Given the description of an element on the screen output the (x, y) to click on. 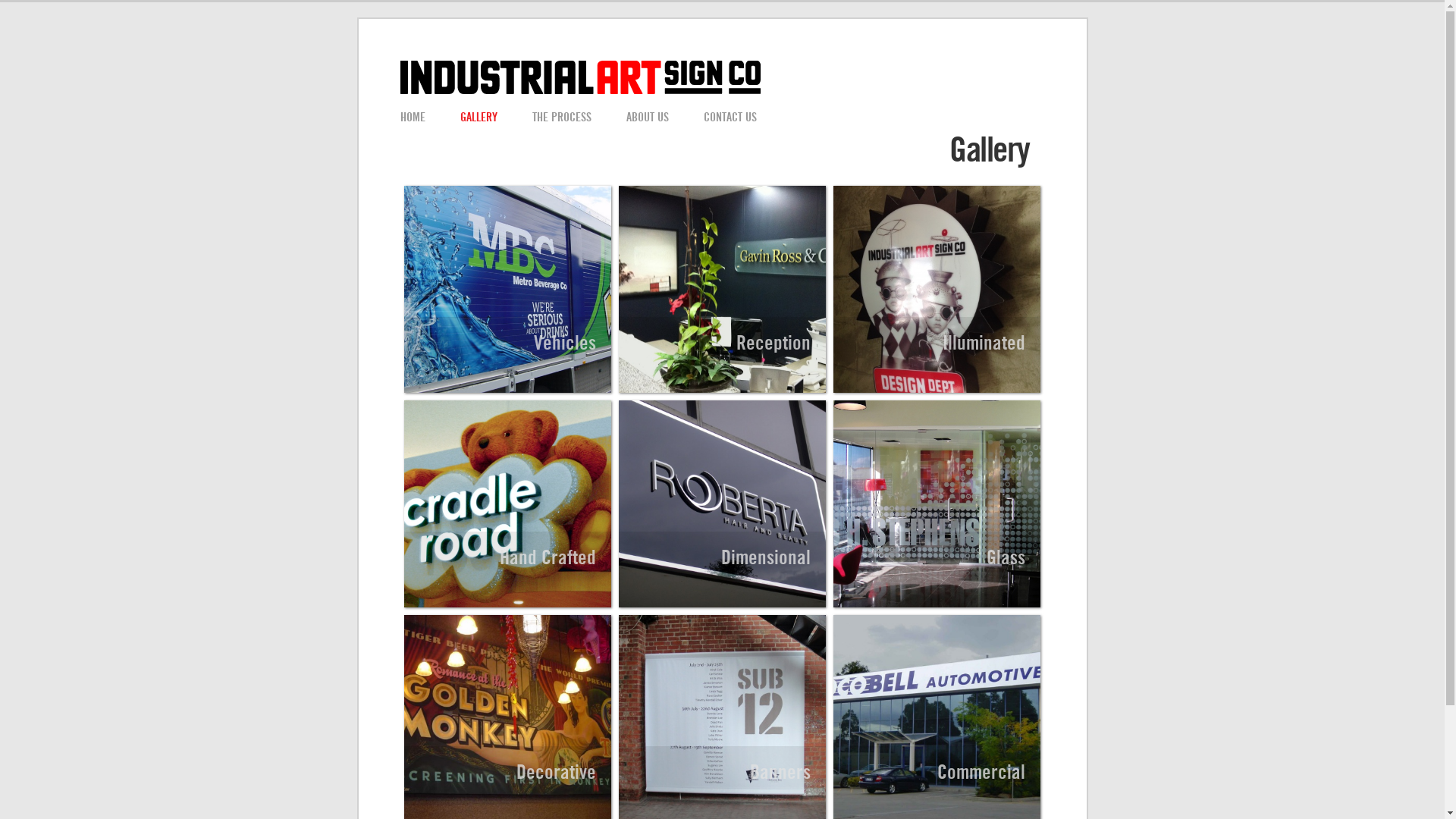
THE PROCESS Element type: text (561, 117)
Illuminated Element type: text (936, 288)
GALLERY Element type: text (477, 117)
Vehicles Element type: text (506, 288)
Dimensional Element type: text (721, 503)
ABOUT US Element type: text (647, 117)
CONTACT US Element type: text (729, 117)
Hand Crafted Element type: text (506, 503)
Glass Element type: text (936, 503)
Reception Element type: text (721, 288)
HOME Element type: text (417, 117)
